Given the description of an element on the screen output the (x, y) to click on. 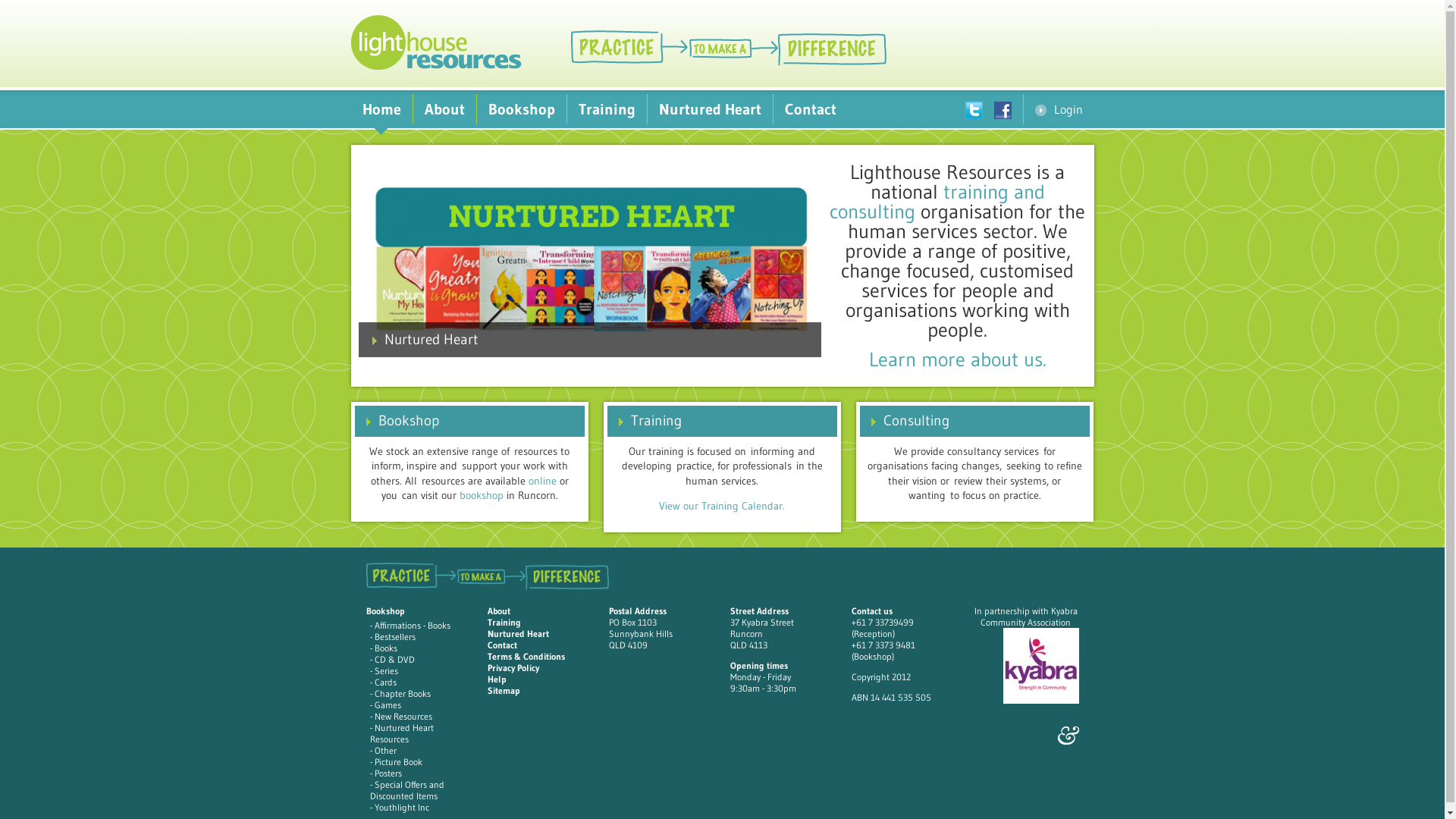
Privacy Policy Element type: text (512, 667)
Posters Element type: text (387, 772)
Web Design Brisbane - Left, Right & Centre Element type: text (1067, 735)
Bookshop Element type: text (520, 109)
Chapter Books Element type: text (402, 693)
Help Element type: text (495, 678)
Training Element type: text (646, 420)
Special Offers and Discounted Items Element type: text (407, 789)
Youthlight Inc Element type: text (401, 806)
Visit us on Twitter Element type: hover (978, 109)
Bookshop Element type: text (397, 420)
Home Element type: text (380, 109)
Training Element type: text (606, 109)
training and consulting Element type: text (936, 201)
Nurtured Heart Resources Element type: text (401, 732)
CD & DVD Element type: text (394, 659)
Games Element type: text (387, 704)
Learn more about us. Element type: text (957, 359)
bookshop Element type: text (481, 495)
Series Element type: text (386, 670)
New Resources Element type: text (403, 715)
Terms & Conditions Element type: text (525, 656)
Training Element type: text (503, 621)
Contact Element type: text (810, 109)
Contact Element type: text (501, 644)
Nurtured Heart Element type: text (517, 633)
Books Element type: text (385, 647)
In partnership with Kyabra Community Association Element type: text (1024, 616)
Nurtured Heart Element type: text (709, 109)
Bestsellers Element type: text (394, 636)
Bookshop Element type: text (384, 610)
Affirmations - Books Element type: text (412, 624)
Consulting Element type: text (905, 420)
Cards Element type: text (385, 681)
Visit us on Facebook Element type: hover (1007, 109)
About Element type: text (497, 610)
Other Element type: text (385, 750)
Nurtured Heart Element type: text (588, 254)
online Element type: text (541, 480)
Login Element type: text (1058, 109)
View our Training Calendar. Element type: text (721, 505)
Picture Book Element type: text (398, 761)
Sitemap Element type: text (502, 690)
About Element type: text (443, 109)
